Given the description of an element on the screen output the (x, y) to click on. 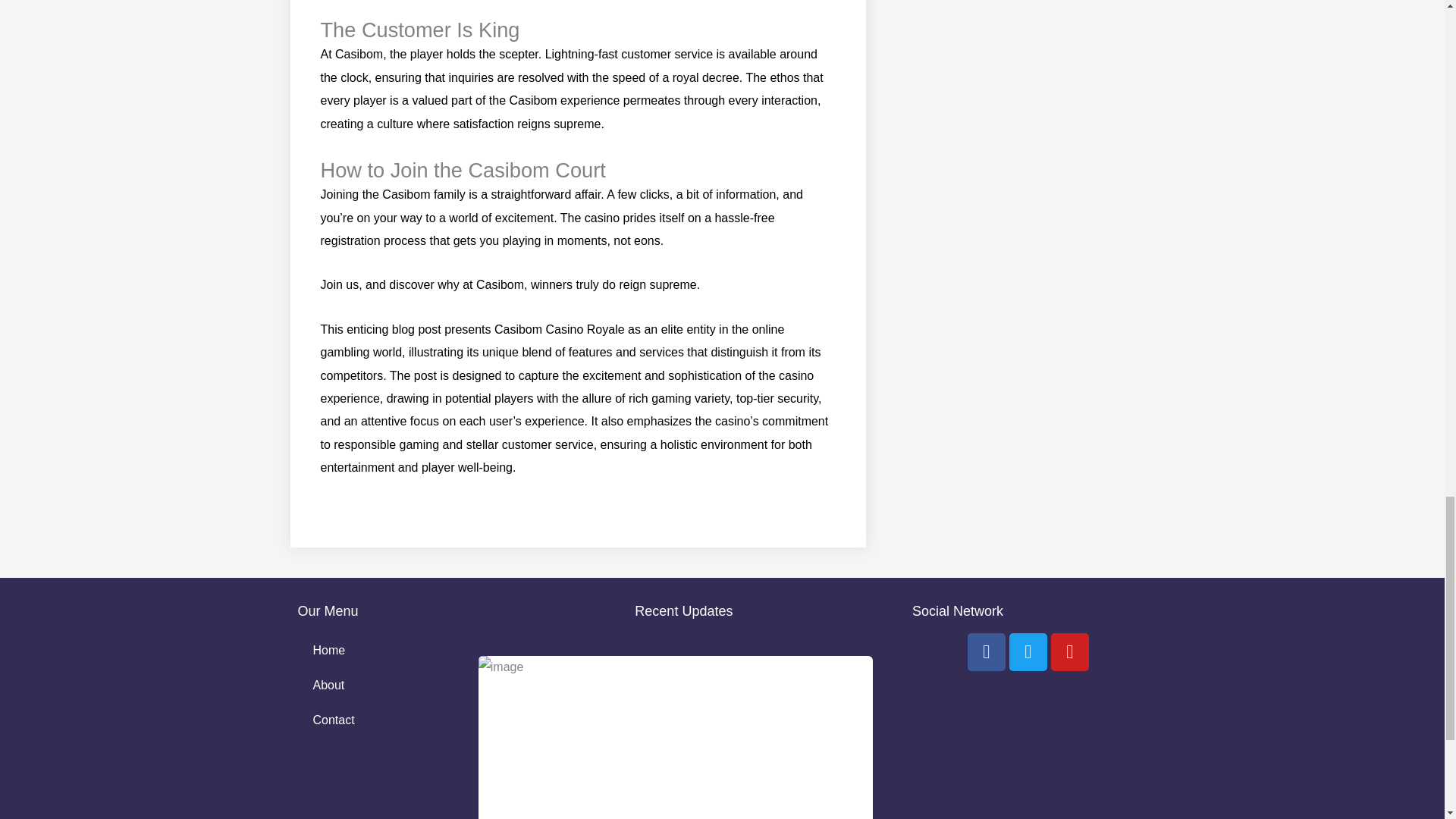
image (675, 737)
Home (375, 650)
About (375, 685)
